Given the description of an element on the screen output the (x, y) to click on. 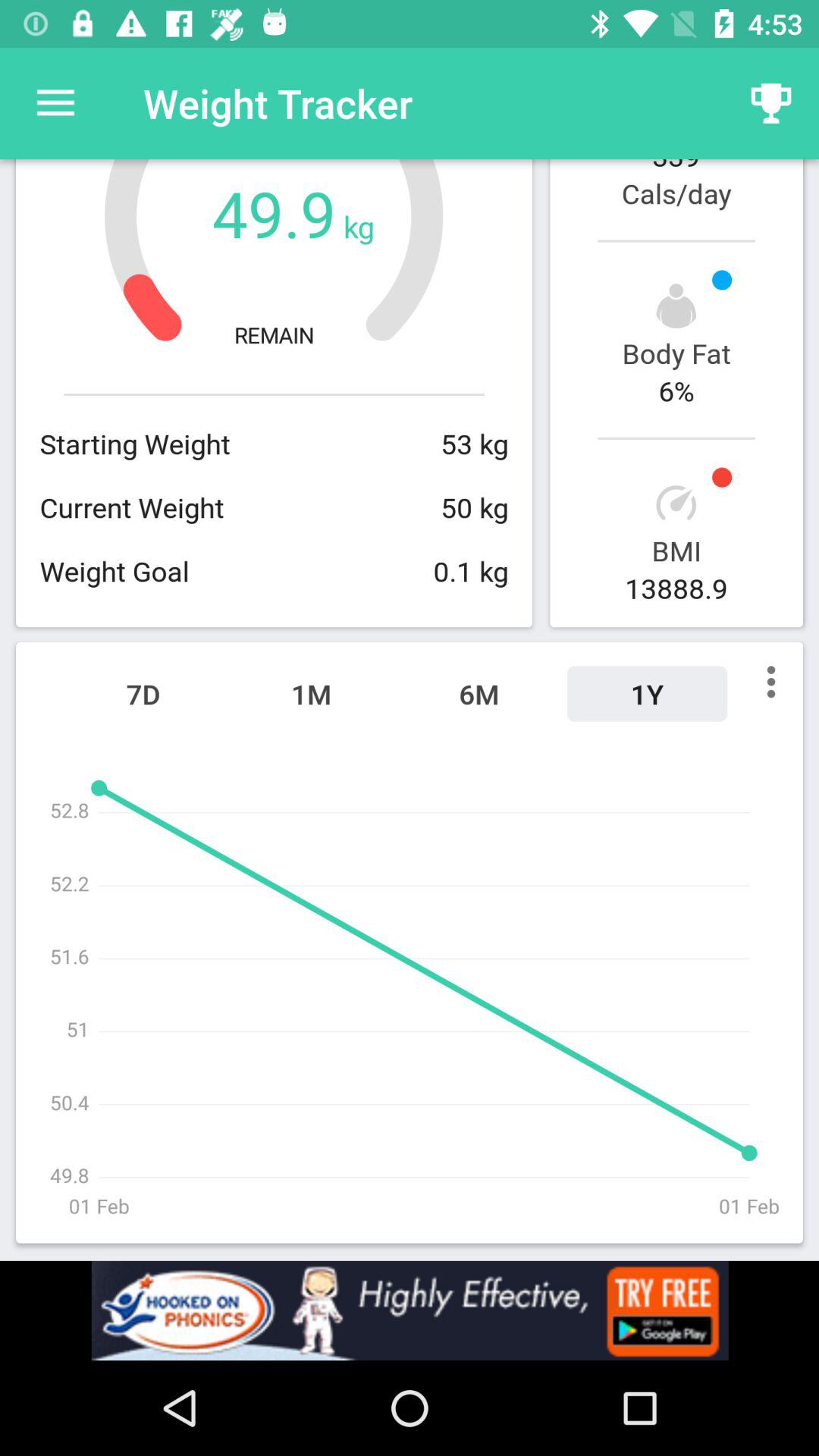
its an advertisement (409, 1310)
